Given the description of an element on the screen output the (x, y) to click on. 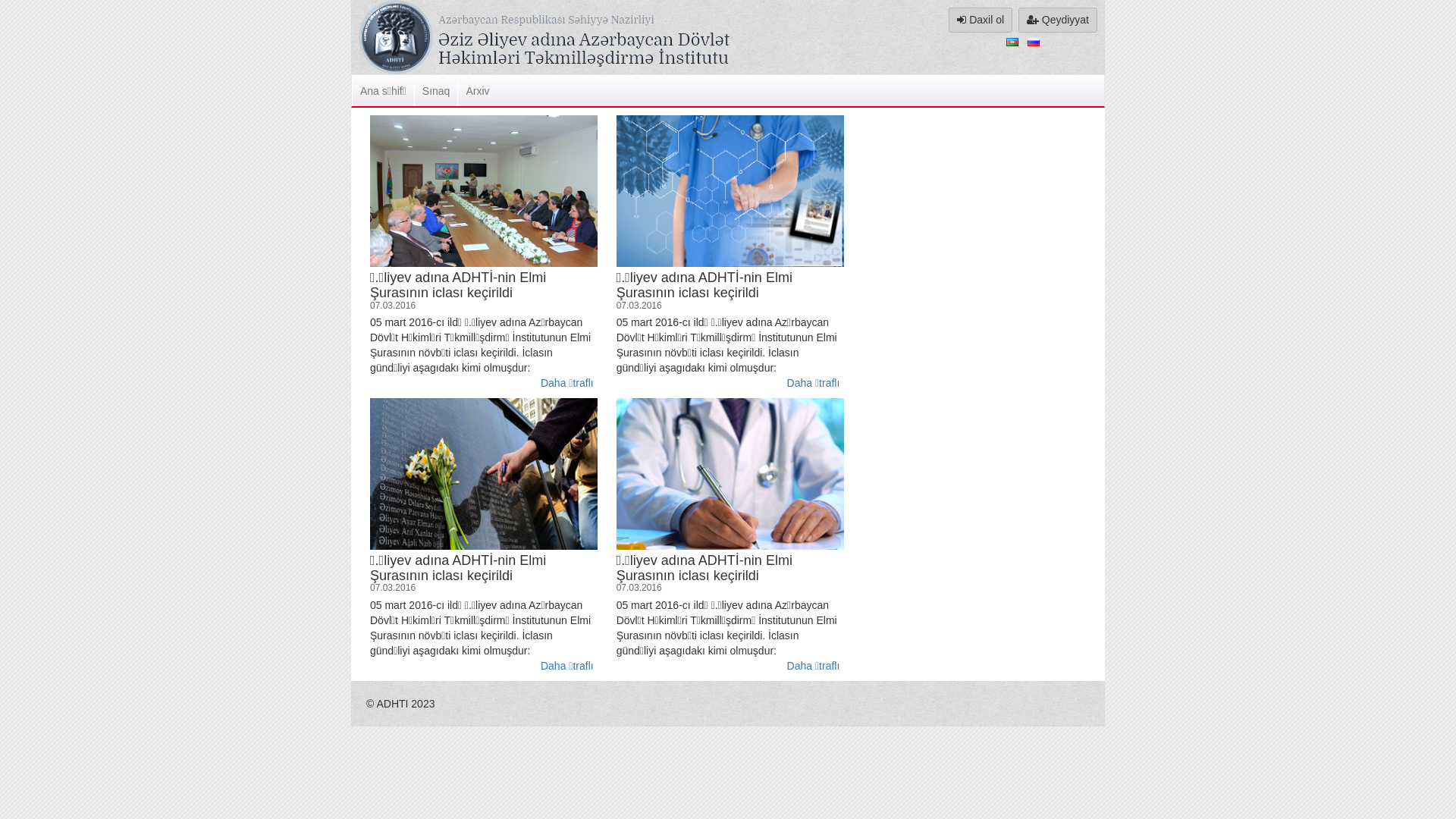
Arxiv Element type: text (476, 90)
 Qeydiyyat Element type: text (1057, 19)
 Daxil ol Element type: text (980, 19)
